Given the description of an element on the screen output the (x, y) to click on. 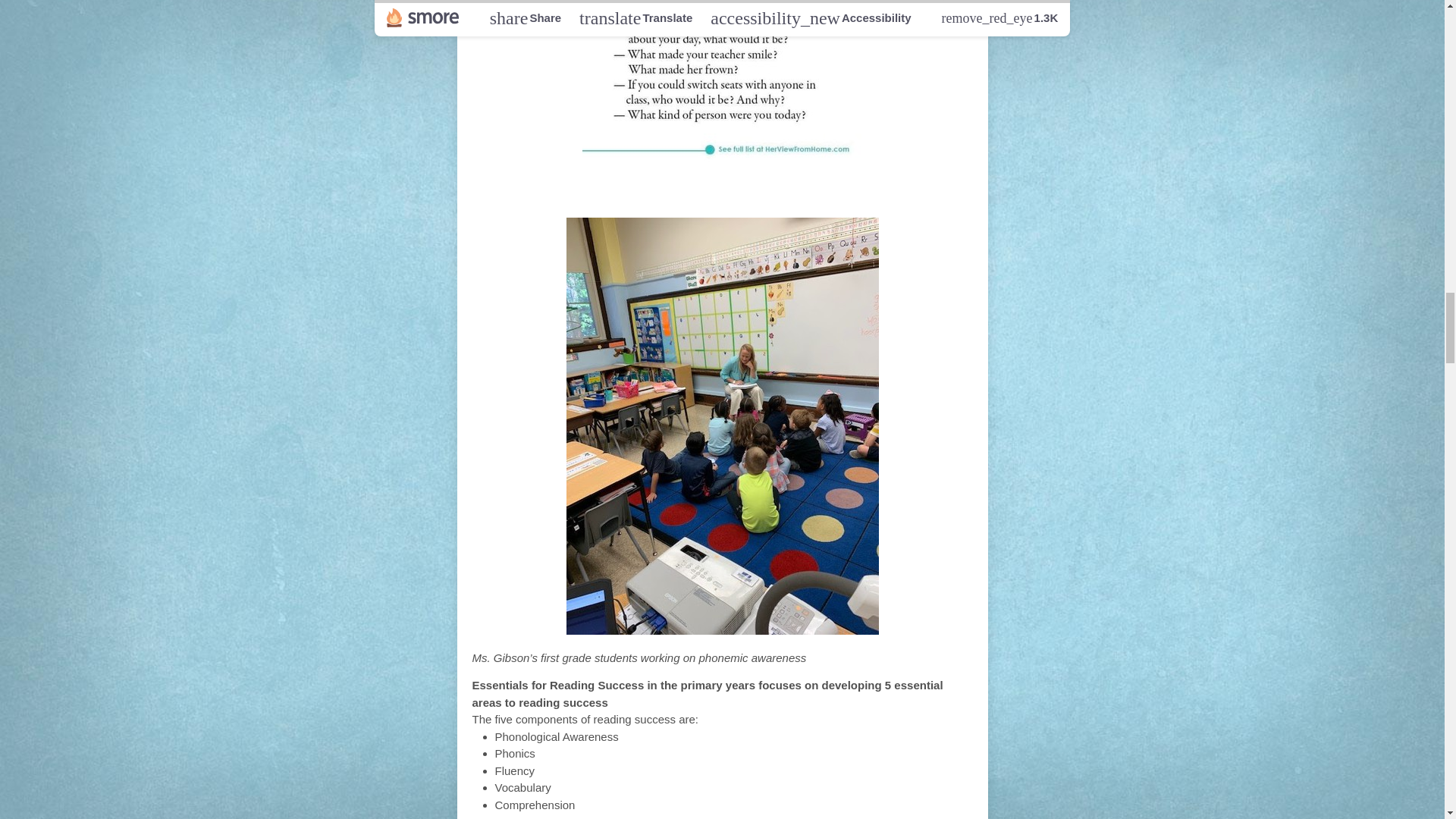
Primary (761, 189)
Reading (611, 189)
the (699, 189)
in (668, 189)
Grades (840, 189)
